Given the description of an element on the screen output the (x, y) to click on. 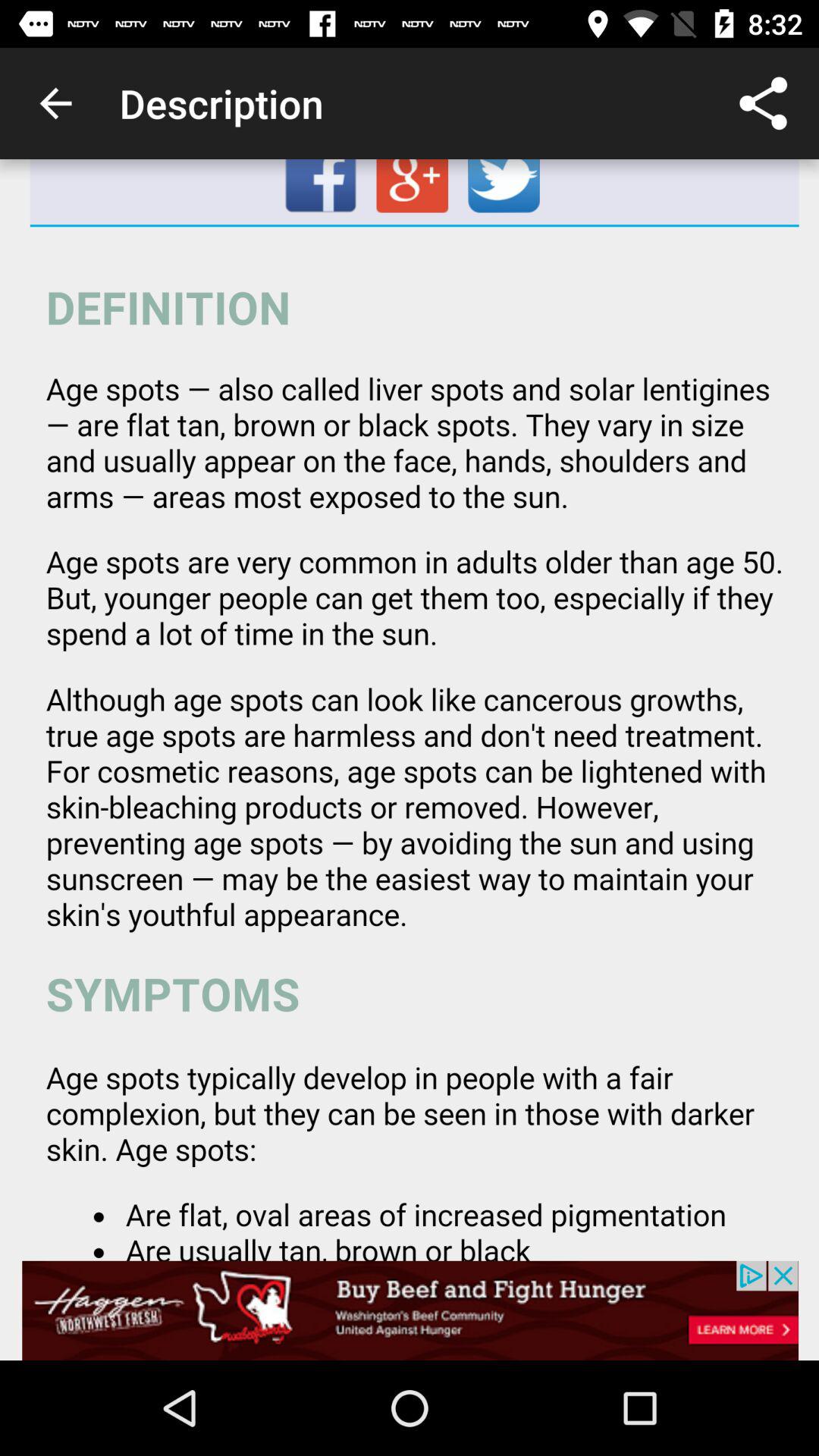
go to twitter page (505, 191)
